Given the description of an element on the screen output the (x, y) to click on. 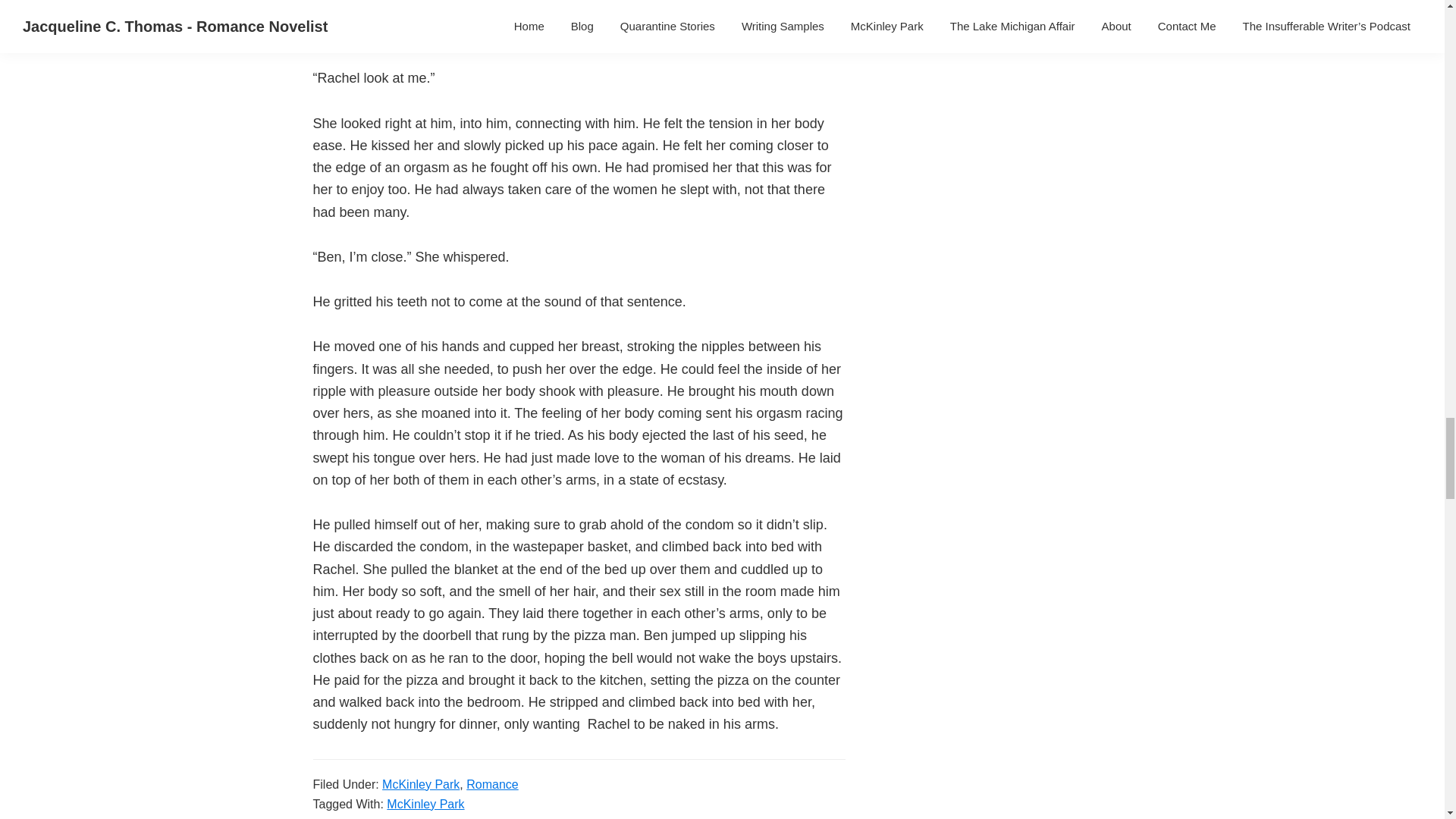
McKinley Park (420, 784)
Romance (491, 784)
McKinley Park (425, 803)
